Given the description of an element on the screen output the (x, y) to click on. 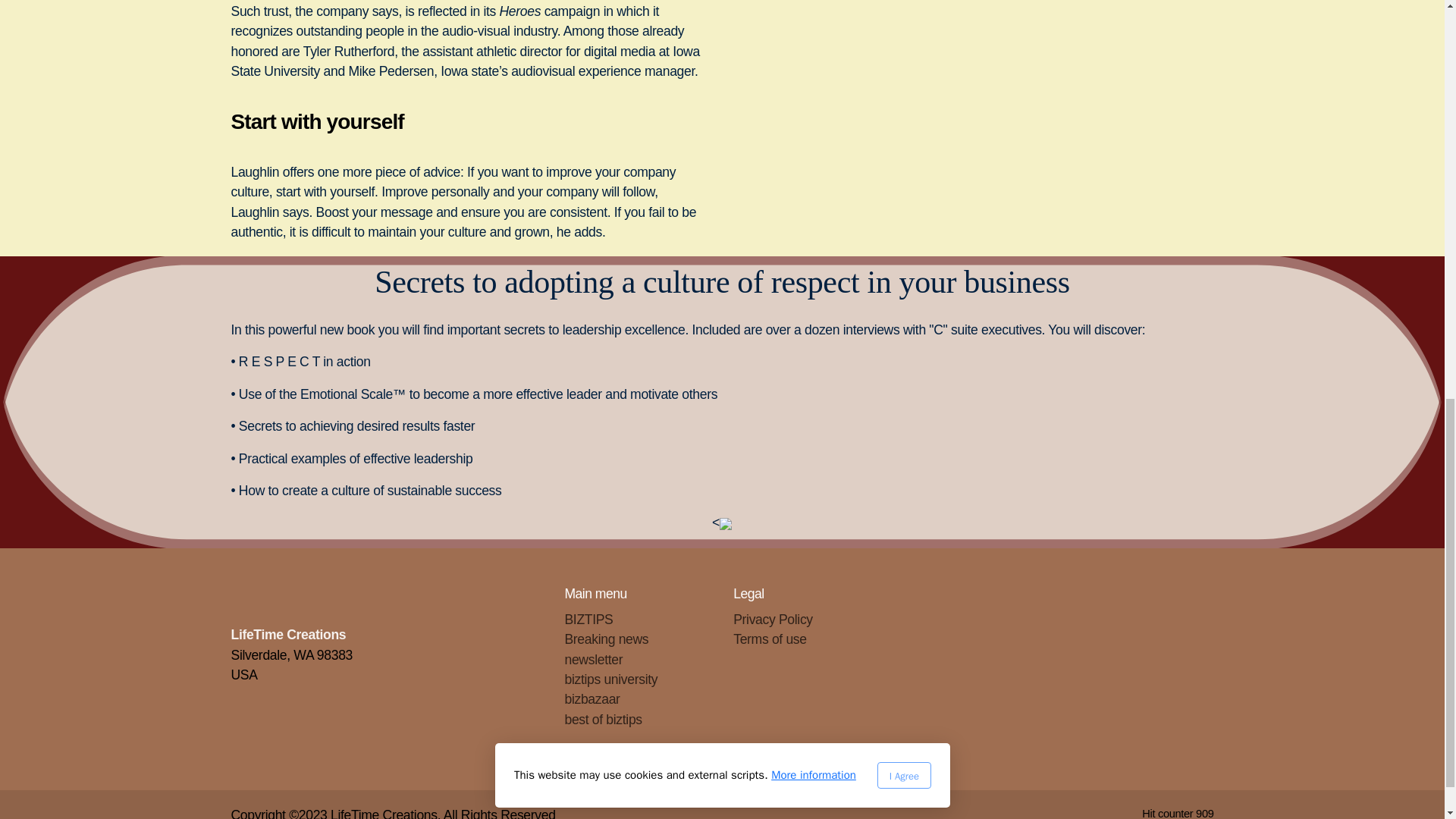
best of biztips (603, 719)
Terms of use (769, 639)
Breaking news (605, 639)
biztips university (611, 679)
newsletter (593, 659)
BIZTIPS (588, 619)
bizbazaar (592, 698)
Terms of use (769, 639)
biztips university (611, 679)
bizbazaar (592, 698)
newsletter (593, 659)
Privacy Policy (772, 619)
BIZTIPS (588, 619)
Breaking news (605, 639)
best of biztips (603, 719)
